Given the description of an element on the screen output the (x, y) to click on. 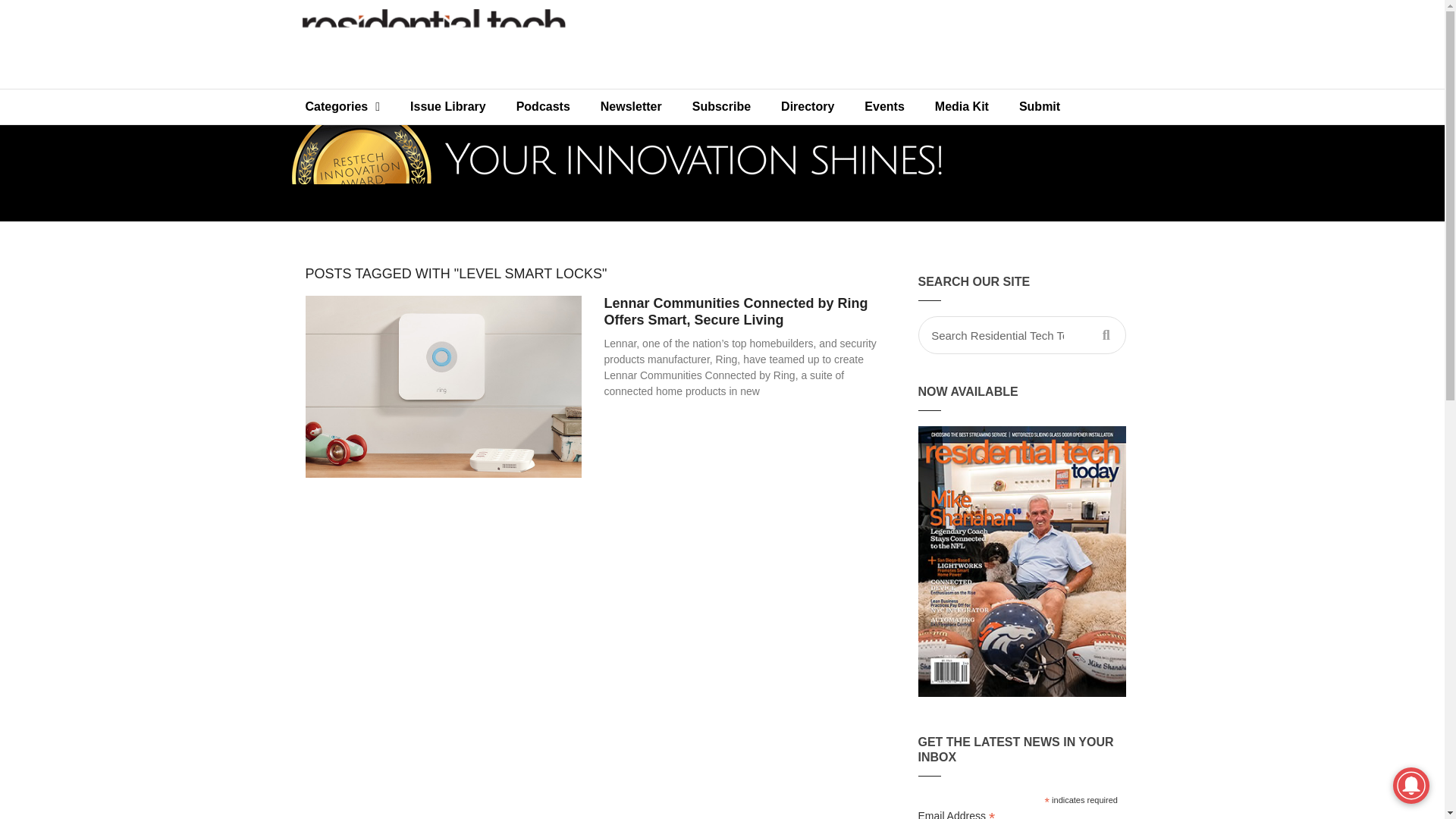
Newsletter (631, 106)
Issue Library (447, 106)
Media Kit (962, 106)
Podcasts (542, 106)
Subscribe (721, 106)
Ring Alarm Base Station copy (440, 385)
Events (883, 106)
Directory (806, 106)
Categories (341, 106)
Submit (1039, 106)
